Given the description of an element on the screen output the (x, y) to click on. 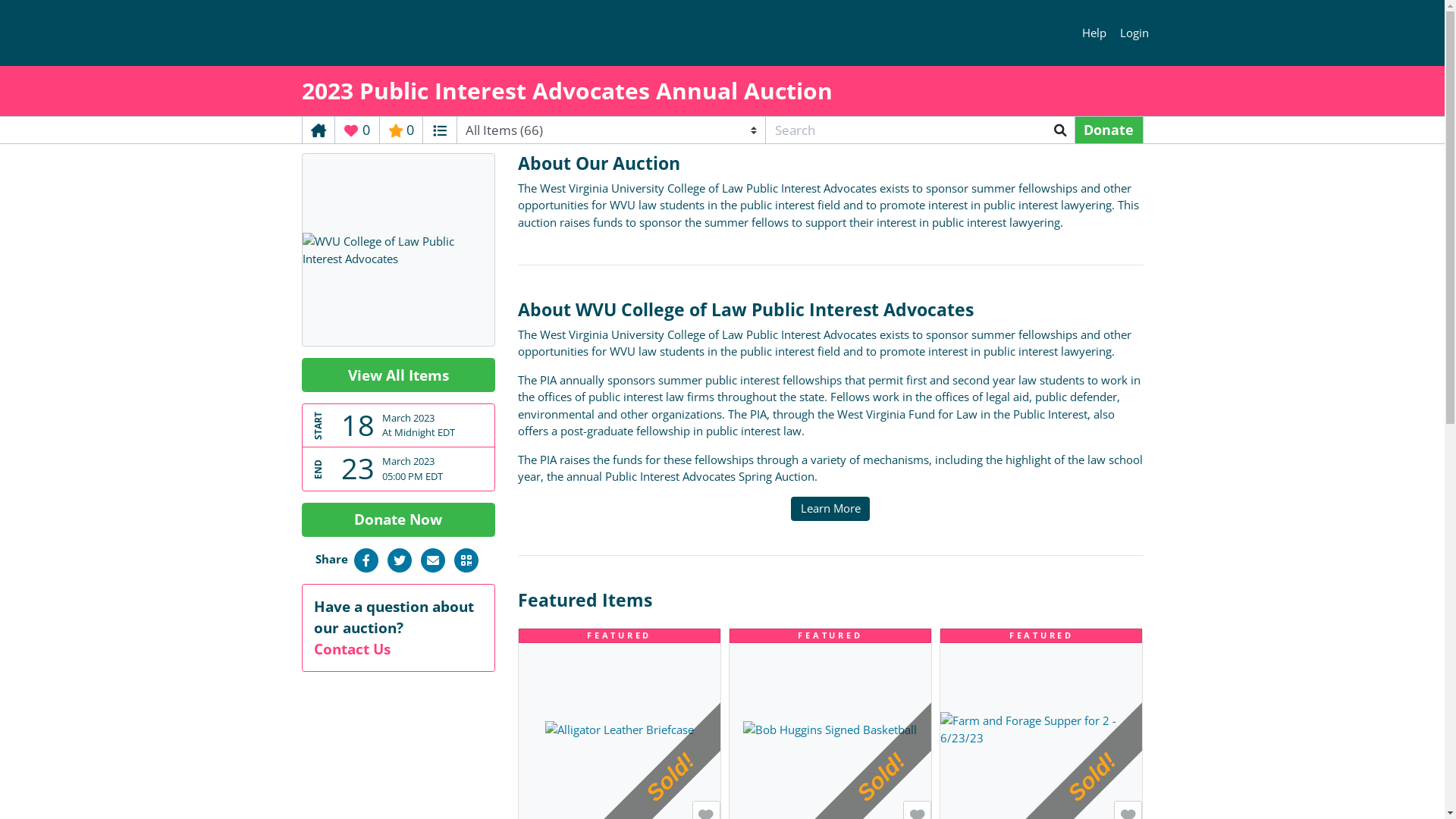
0 Element type: text (357, 129)
Donate Now Element type: text (398, 519)
Item List Element type: hover (439, 129)
0 Element type: text (400, 129)
Auction Home Element type: hover (317, 129)
Share on Twitter Element type: hover (398, 558)
Contact Us Element type: text (351, 648)
Share on Facebook Element type: hover (365, 558)
Share QR Code Element type: hover (465, 558)
Login Element type: text (1134, 32)
Help Element type: text (1094, 32)
Donate Element type: text (1108, 129)
Learn More Element type: text (829, 508)
Search Element type: text (1059, 129)
Share by Email Element type: hover (432, 558)
View All Items Element type: text (398, 374)
